Given the description of an element on the screen output the (x, y) to click on. 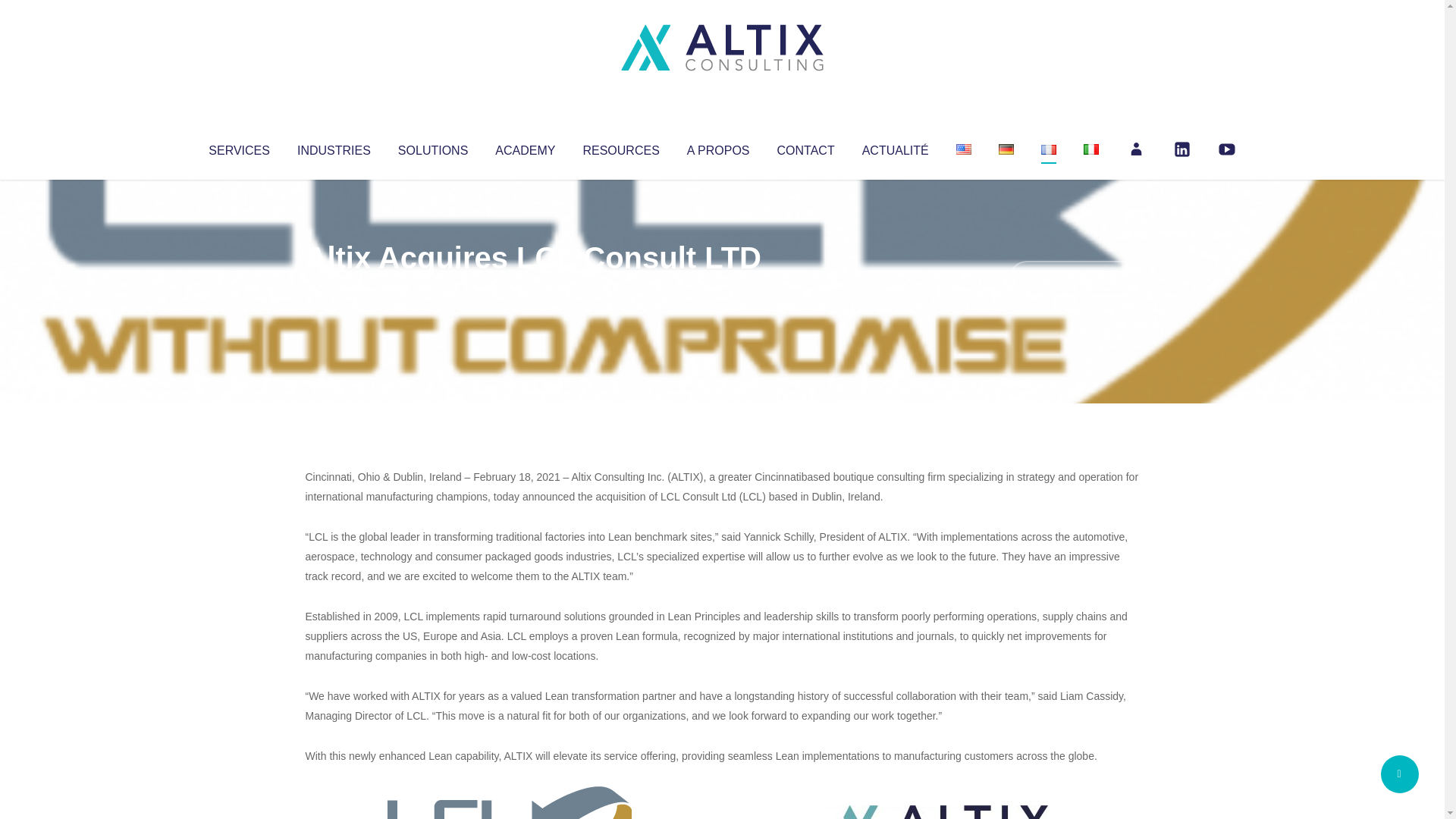
A PROPOS (718, 146)
ACADEMY (524, 146)
SERVICES (238, 146)
Altix (333, 287)
No Comments (1073, 278)
Articles par Altix (333, 287)
Uncategorized (530, 287)
SOLUTIONS (432, 146)
INDUSTRIES (334, 146)
RESOURCES (620, 146)
